Given the description of an element on the screen output the (x, y) to click on. 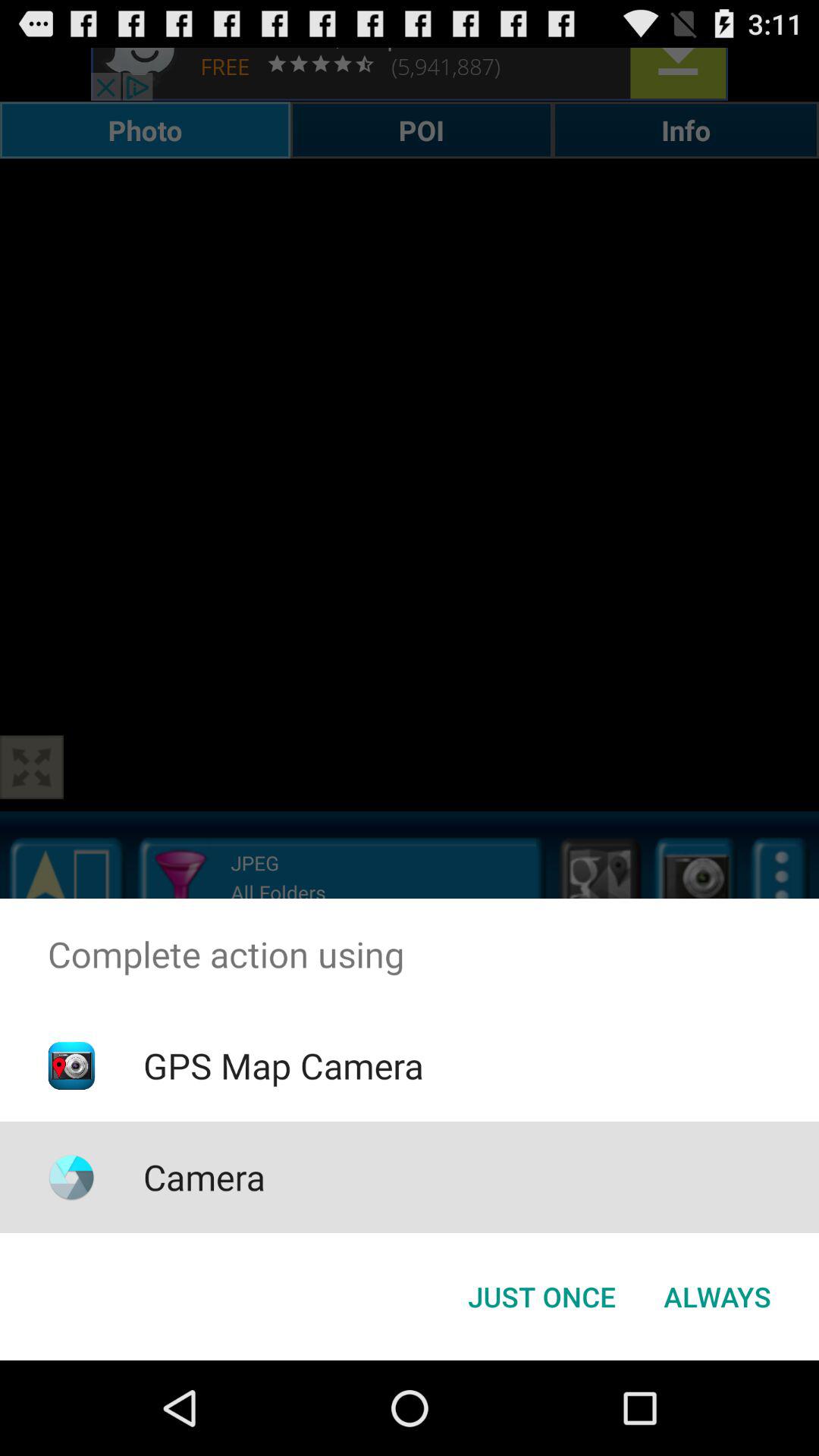
jump to just once (541, 1296)
